Given the description of an element on the screen output the (x, y) to click on. 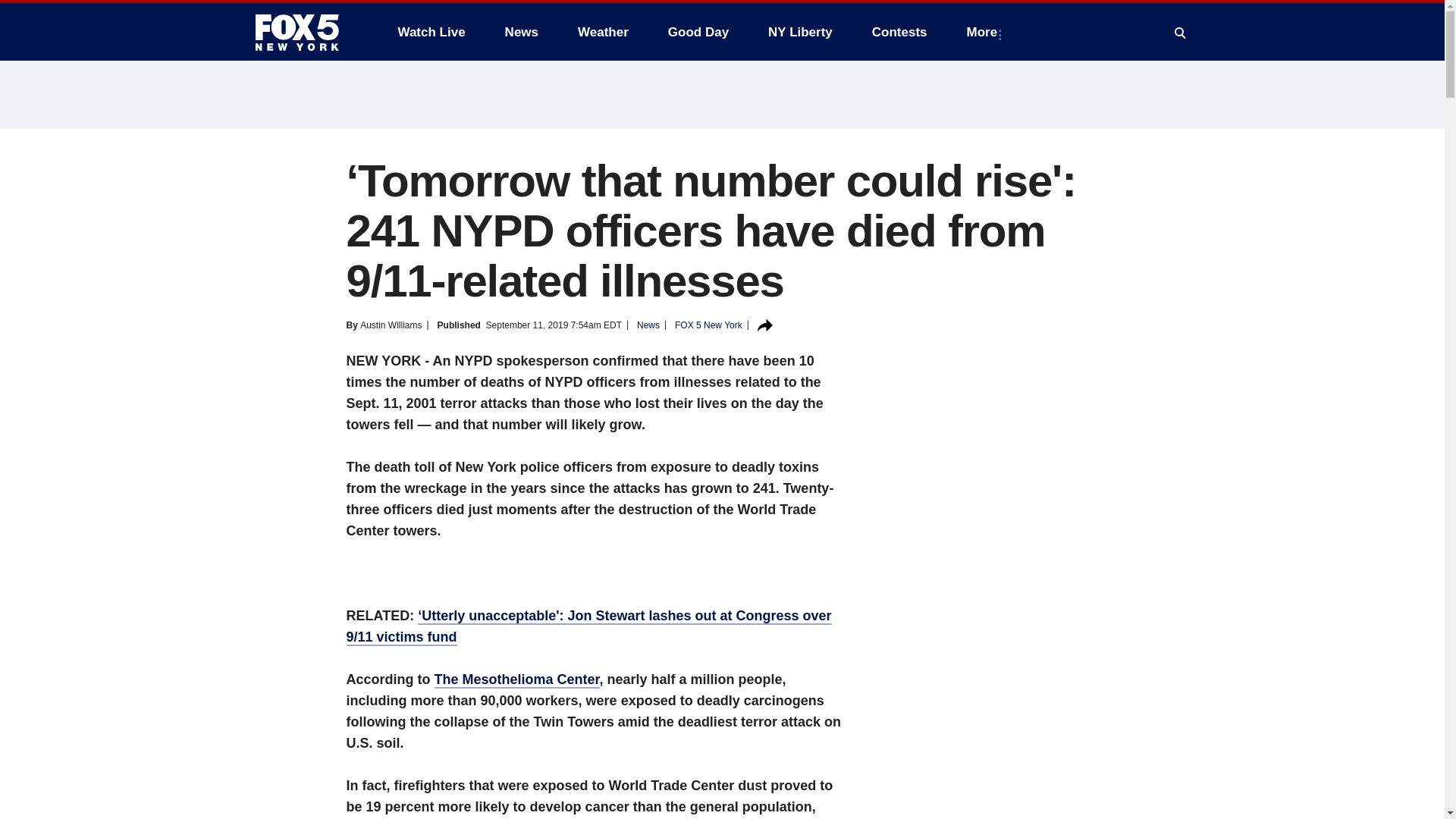
News (521, 32)
More (985, 32)
Contests (899, 32)
Watch Live (431, 32)
Weather (603, 32)
Good Day (698, 32)
NY Liberty (799, 32)
